Given the description of an element on the screen output the (x, y) to click on. 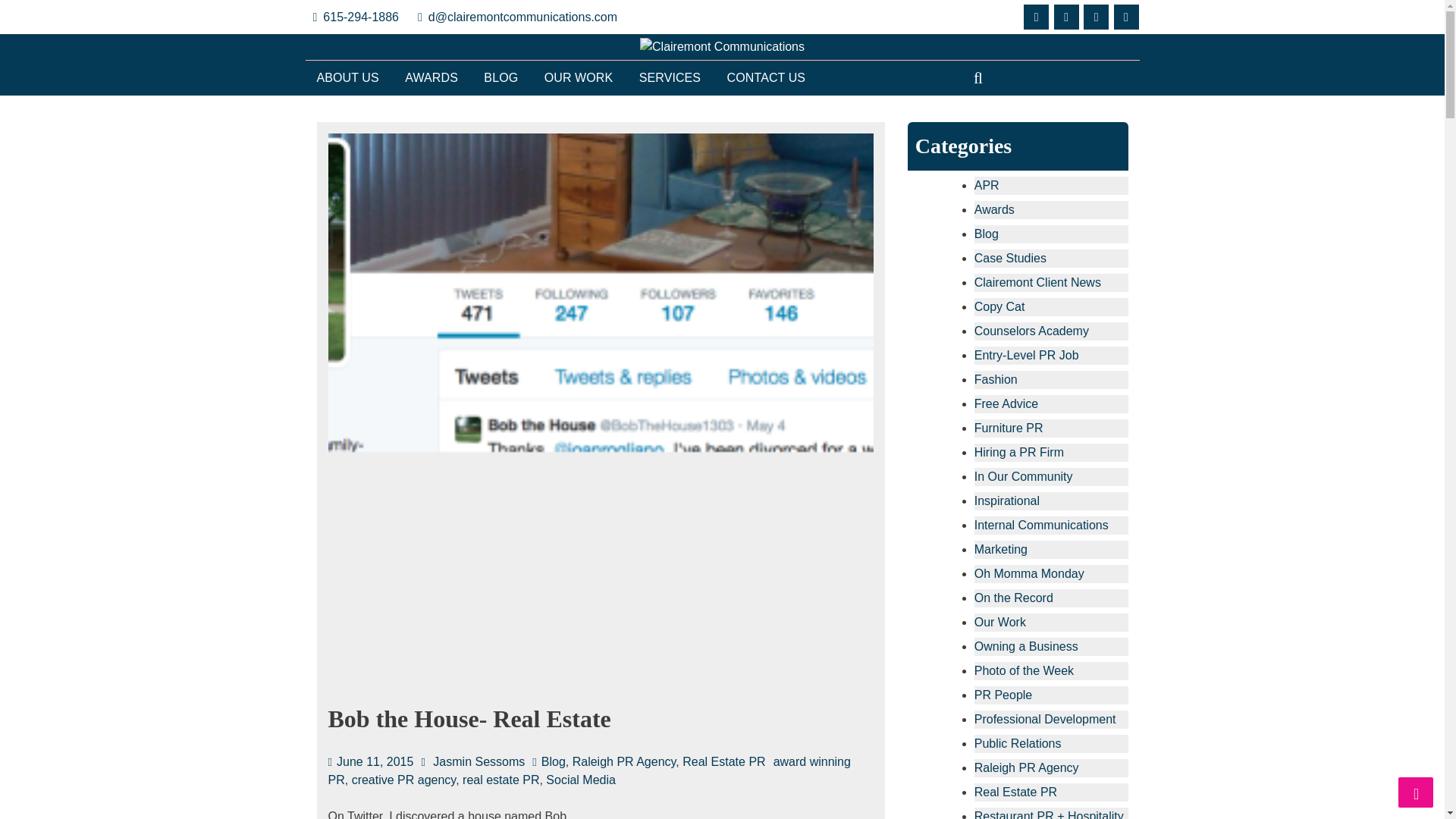
BLOG (500, 77)
Clairemont Communications (454, 73)
Raleigh PR Agency (624, 761)
SERVICES (669, 77)
Blog (986, 233)
ABOUT US (347, 77)
creative PR agency (404, 779)
Case Studies (1010, 257)
Real Estate PR (723, 761)
Social Media (580, 779)
